Given the description of an element on the screen output the (x, y) to click on. 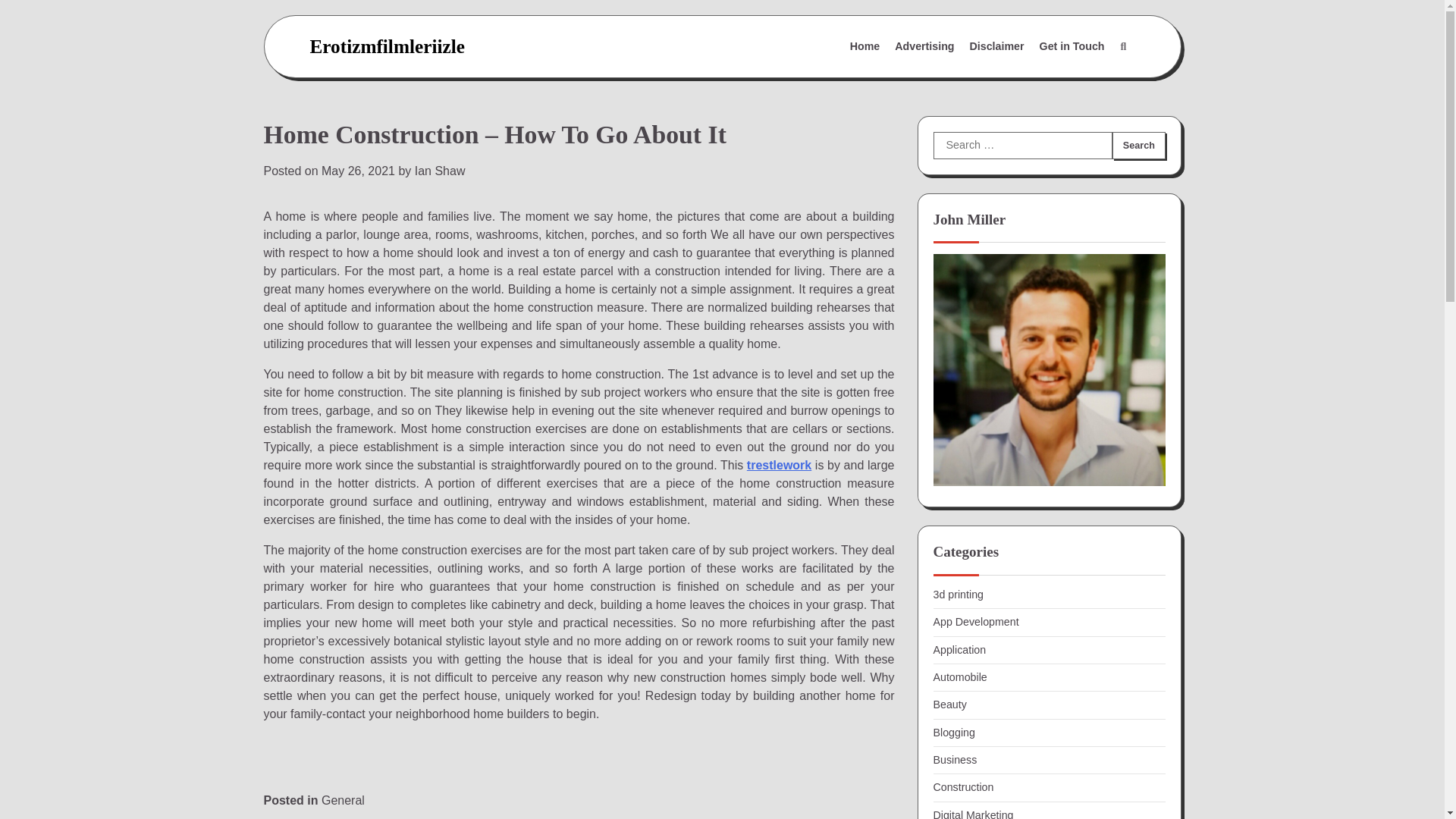
Application (959, 649)
Beauty (949, 704)
Digital Marketing (973, 814)
Ian Shaw (439, 170)
Get in Touch (1072, 46)
May 26, 2021 (357, 170)
Search (1123, 47)
Automobile (960, 676)
trestlework (778, 464)
Business (954, 759)
Search (1086, 83)
Construction (962, 787)
Search (1138, 144)
Search (1138, 144)
